Given the description of an element on the screen output the (x, y) to click on. 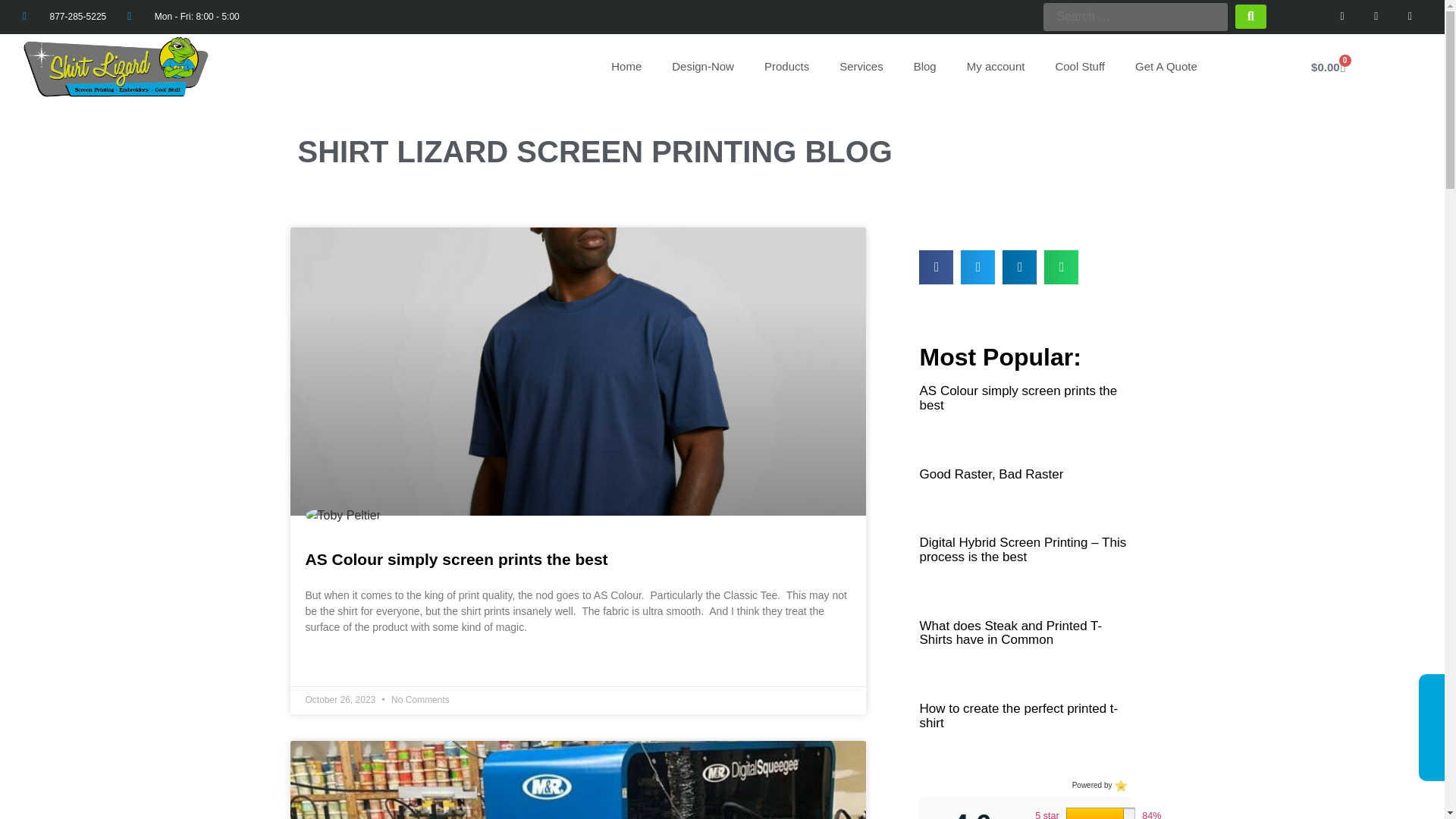
Blog (925, 66)
Get A Quote (1165, 66)
Products (786, 66)
Cool Stuff (1079, 66)
Services (861, 66)
5 star (1047, 814)
Home (625, 66)
My account (996, 66)
Design-Now (702, 66)
Customer Reviews for WooCommerce (1119, 784)
AS Colour simply screen prints the best (455, 559)
